Given the description of an element on the screen output the (x, y) to click on. 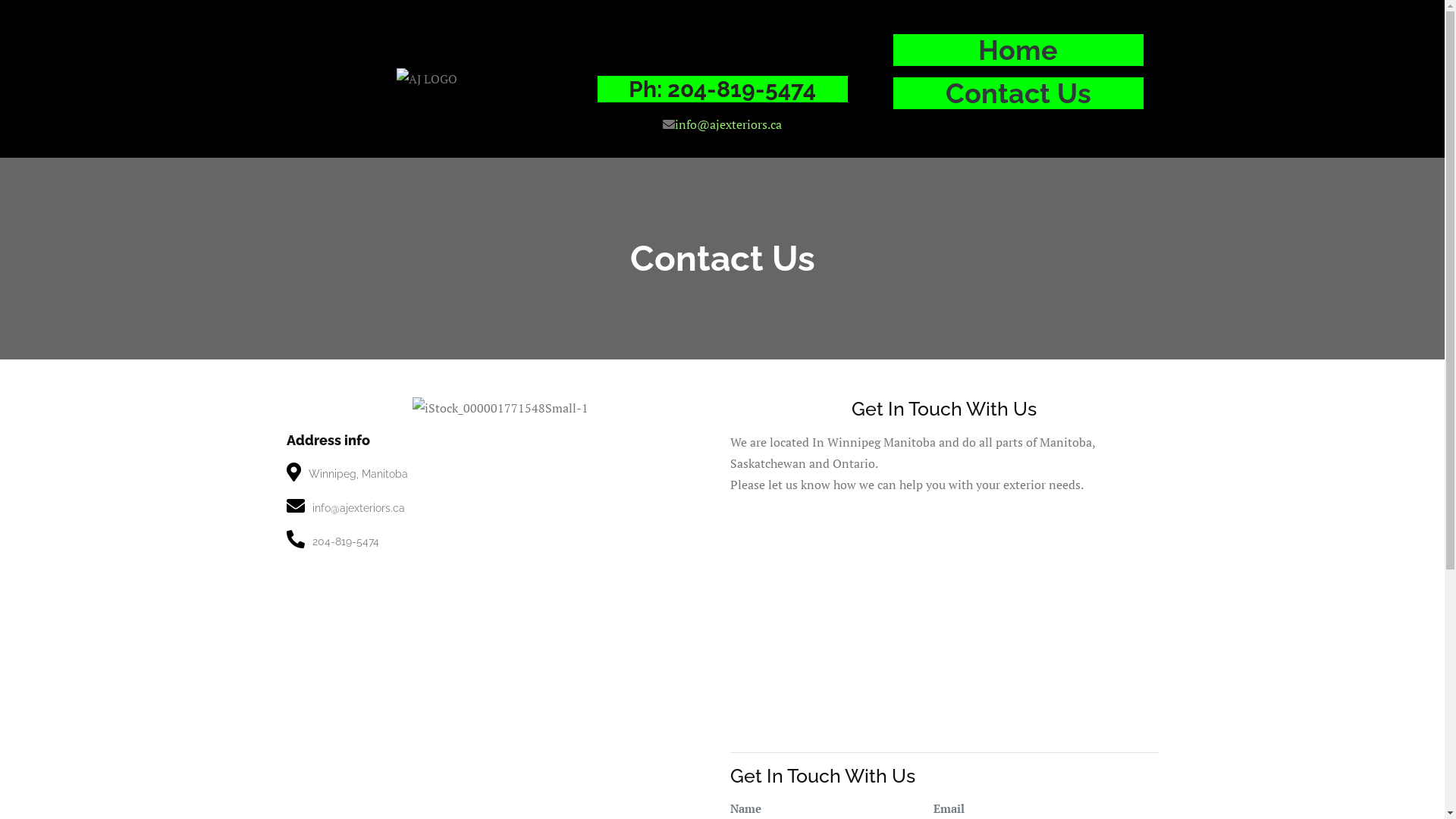
AJ LOGO Element type: hover (425, 78)
Contact Us Element type: text (1018, 93)
Home Element type: text (1018, 49)
iStock_000001771548Small-1 Element type: hover (500, 407)
